Given the description of an element on the screen output the (x, y) to click on. 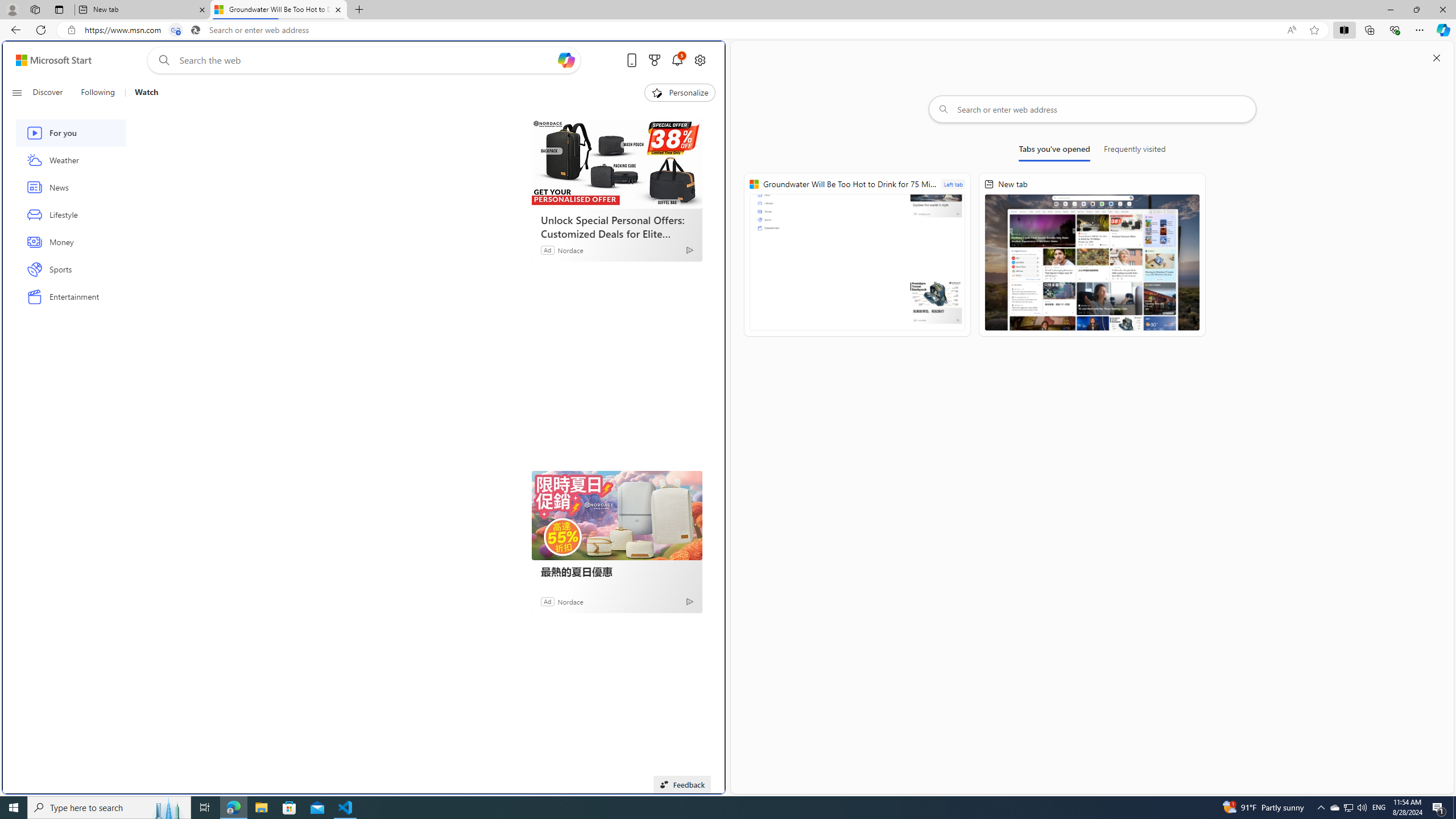
Open settings (699, 60)
Search or enter web address (1092, 108)
